Given the description of an element on the screen output the (x, y) to click on. 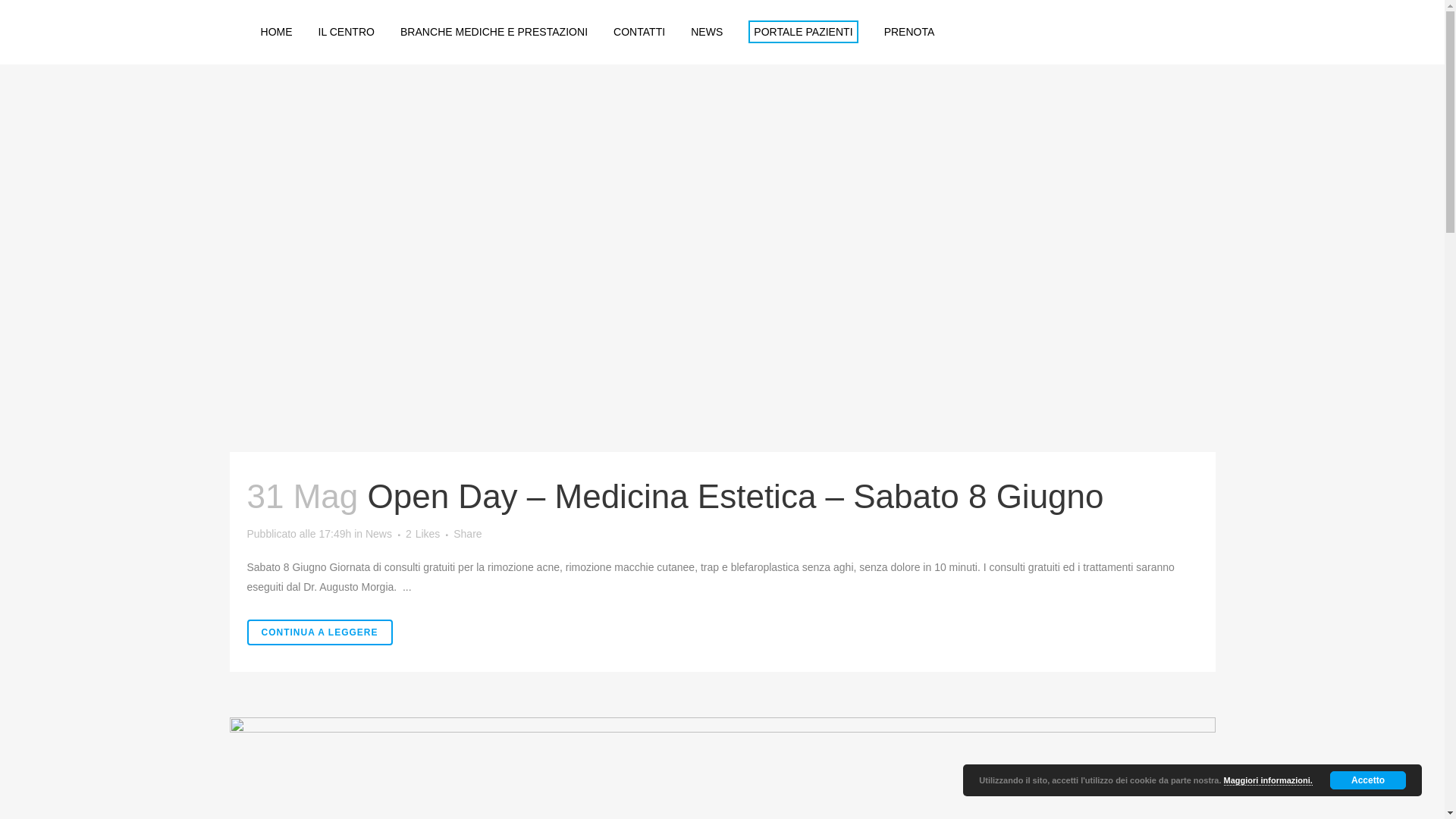
CONTATTI Element type: text (638, 32)
NEWS Element type: text (706, 32)
PRENOTA Element type: text (909, 32)
Accetto Element type: text (1367, 780)
BRANCHE MEDICHE E PRESTAZIONI Element type: text (493, 32)
2 Likes Element type: text (422, 533)
HOME Element type: text (275, 32)
Share Element type: text (467, 533)
IL CENTRO Element type: text (346, 32)
CONTINUA A LEGGERE Element type: text (319, 632)
PORTALE PAZIENTI Element type: text (802, 32)
Maggiori informazioni. Element type: text (1267, 780)
News Element type: text (378, 533)
